Given the description of an element on the screen output the (x, y) to click on. 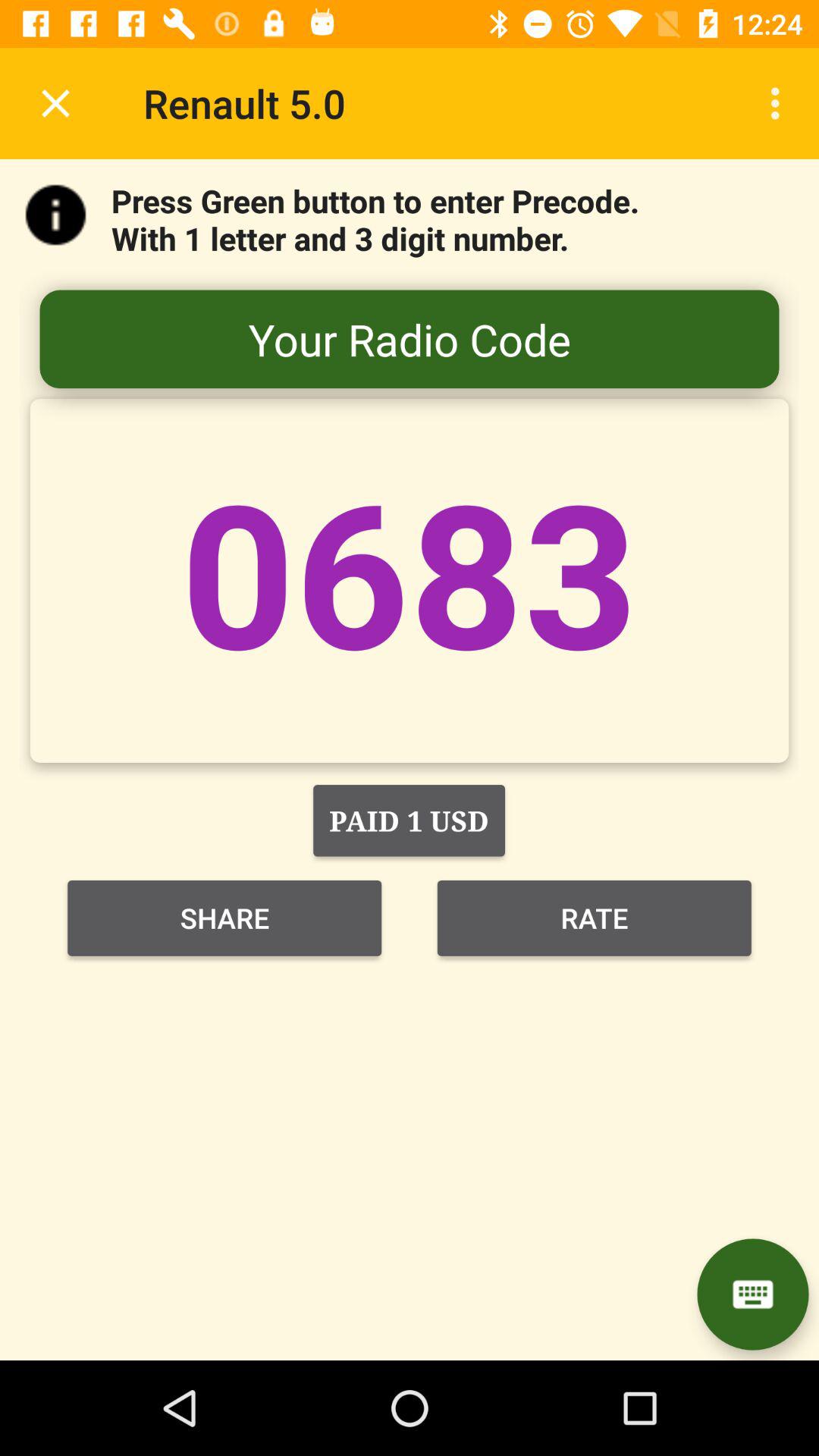
select the icon below paid 1 usd icon (224, 918)
